Given the description of an element on the screen output the (x, y) to click on. 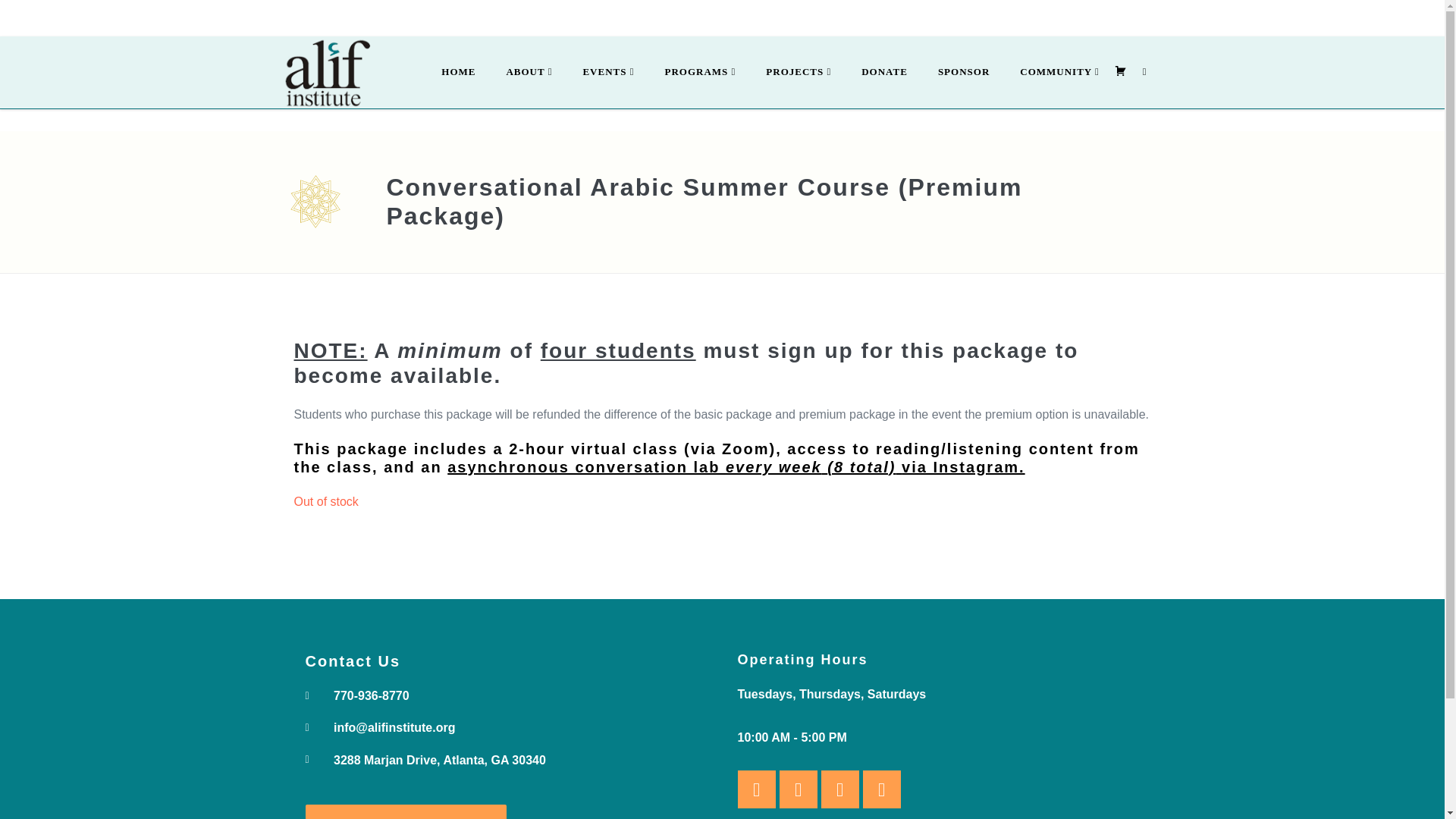
Become a Member (856, 17)
Volunteer (1124, 17)
My Membership (1033, 17)
HOME (458, 72)
DONATE (884, 72)
EVENTS (608, 72)
CART (1120, 72)
PROJECTS (798, 72)
SPONSOR (963, 72)
ABOUT (528, 72)
Login (949, 17)
COMMUNITY (1058, 72)
PROGRAMS (700, 72)
